Given the description of an element on the screen output the (x, y) to click on. 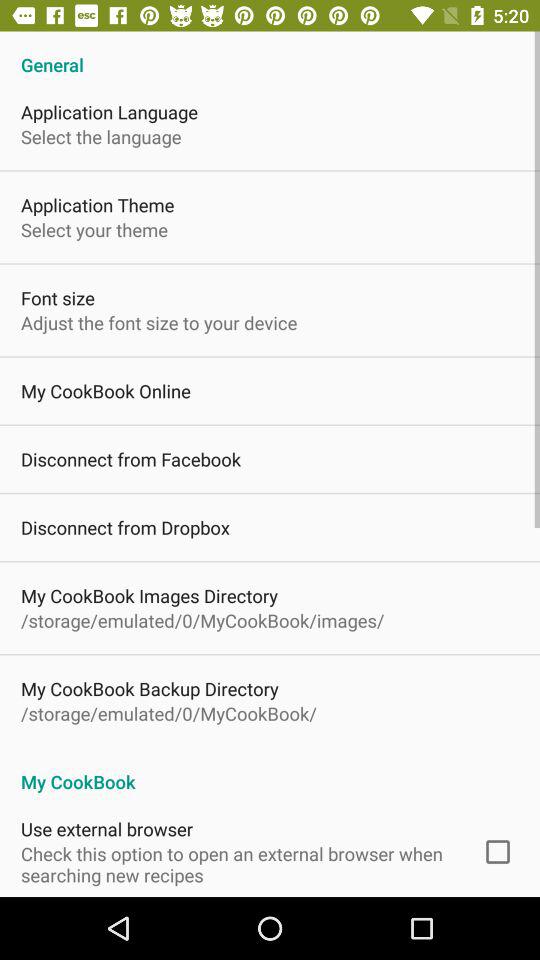
select app above the my cookbook online item (159, 322)
